Given the description of an element on the screen output the (x, y) to click on. 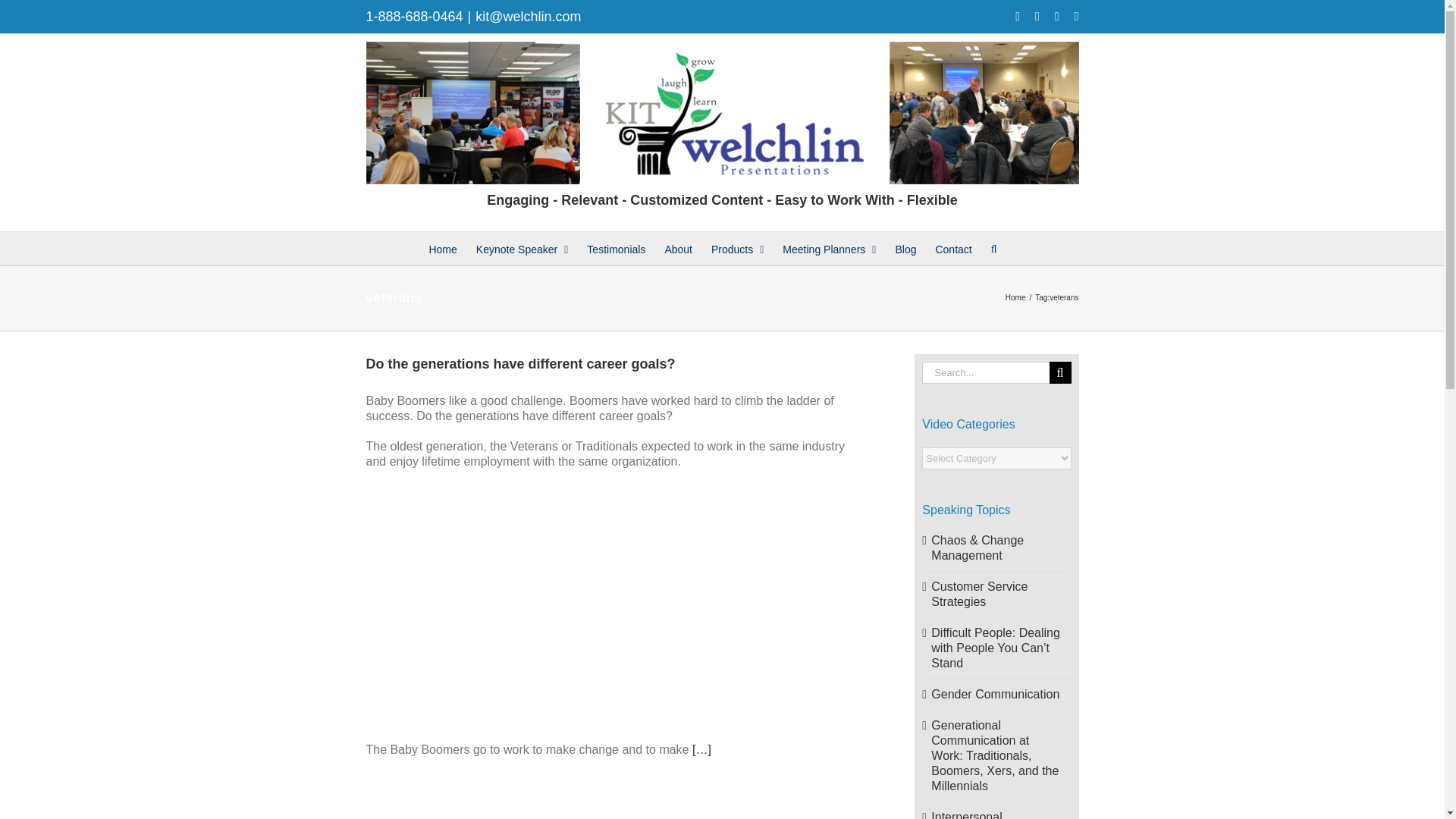
Products (736, 247)
Keynote Speaker (522, 247)
Home (1016, 297)
Contact (952, 247)
Customer Service Strategies (979, 593)
Gender Communication (995, 694)
Testimonials (615, 247)
Interpersonal Communication Skills (988, 814)
Do the generations have different career goals? (520, 363)
